Given the description of an element on the screen output the (x, y) to click on. 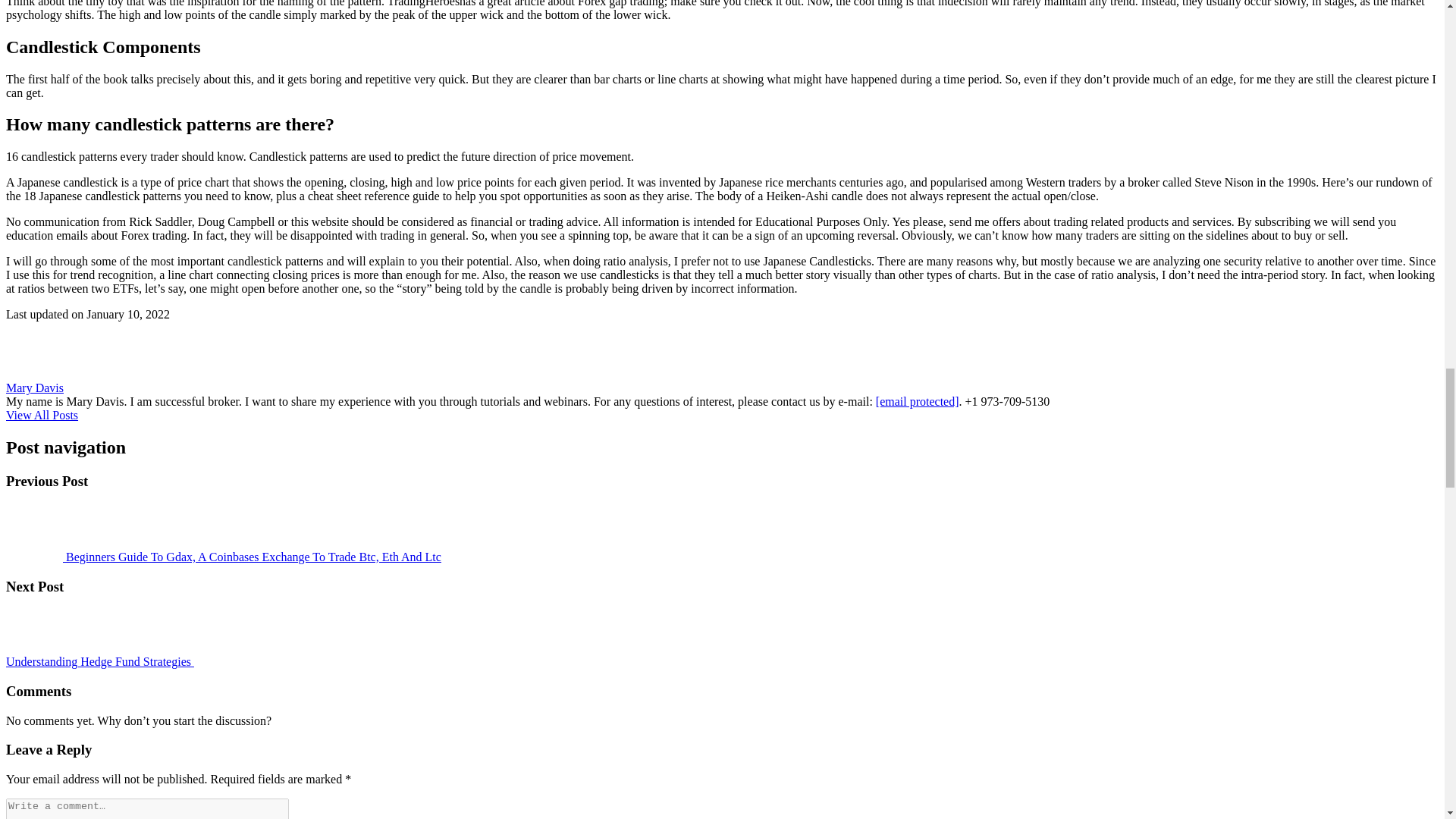
View All Posts (41, 414)
Mary Davis (34, 387)
